Given the description of an element on the screen output the (x, y) to click on. 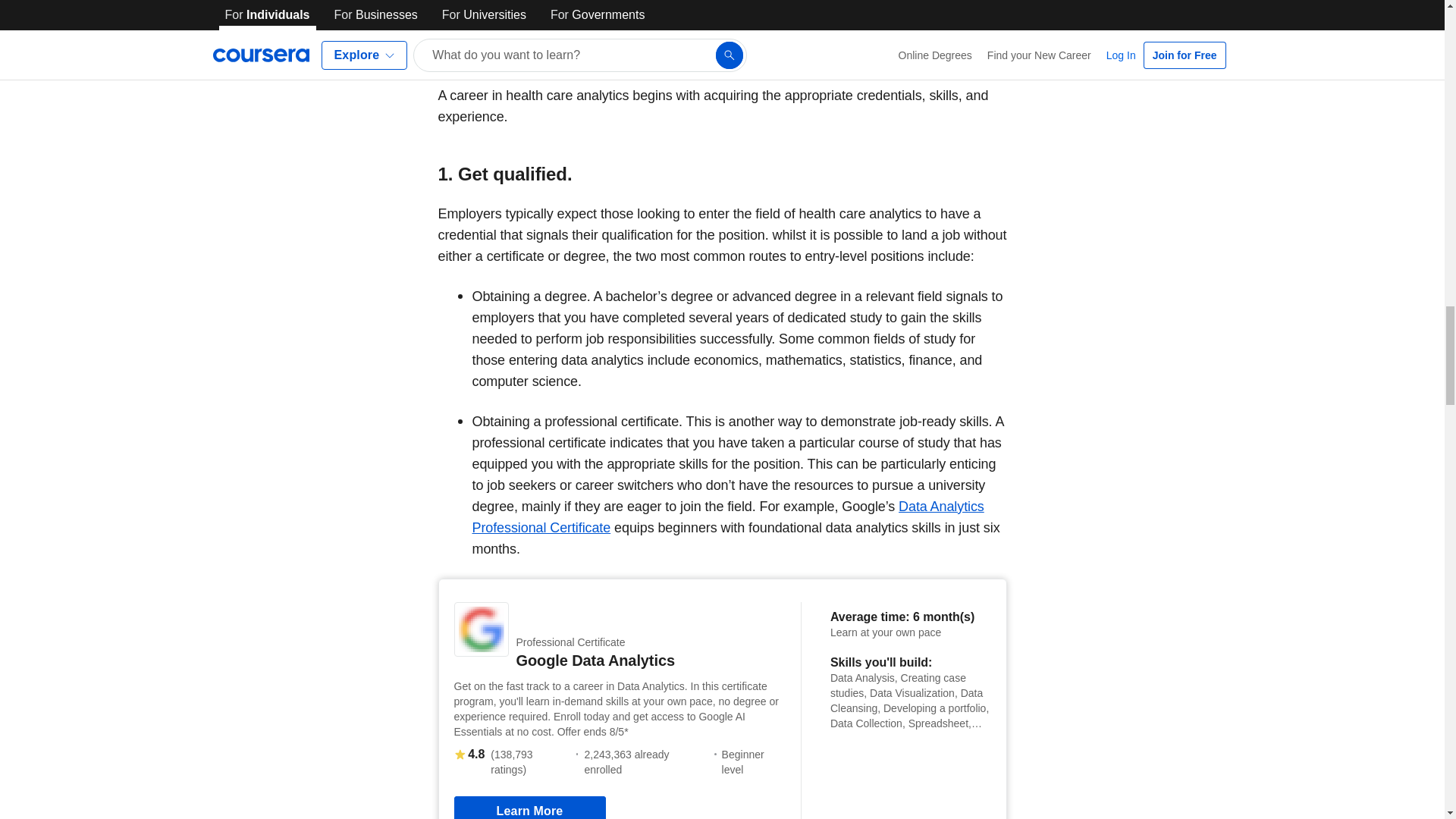
Learn More (528, 807)
Data Analytics Professional Certificate (727, 516)
